Given the description of an element on the screen output the (x, y) to click on. 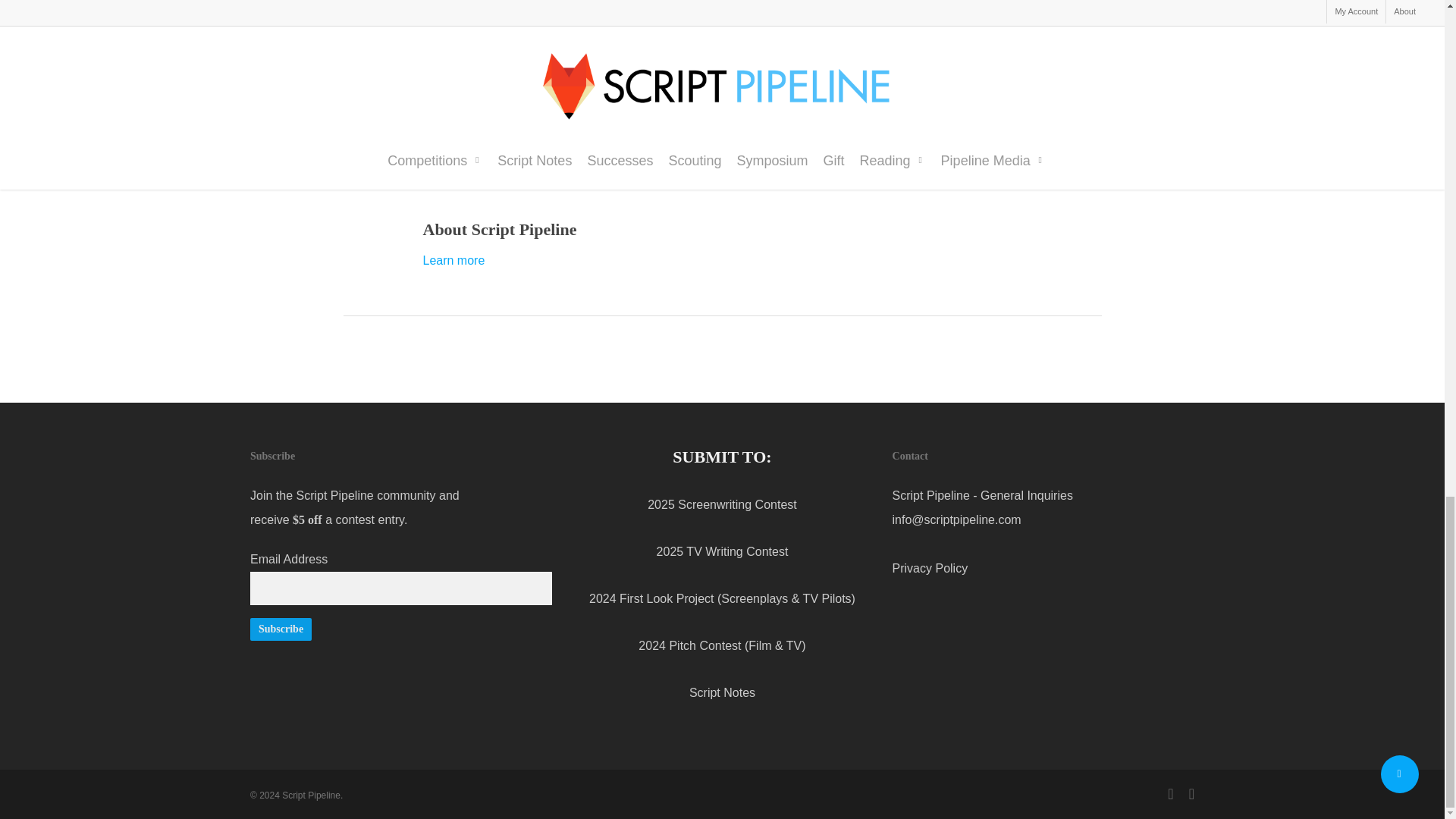
2025 TV Writing Contest (722, 551)
Subscribe (280, 629)
2025 Screenwriting Contest (721, 504)
here (811, 143)
Learn more (453, 259)
Subscribe (280, 629)
